Given the description of an element on the screen output the (x, y) to click on. 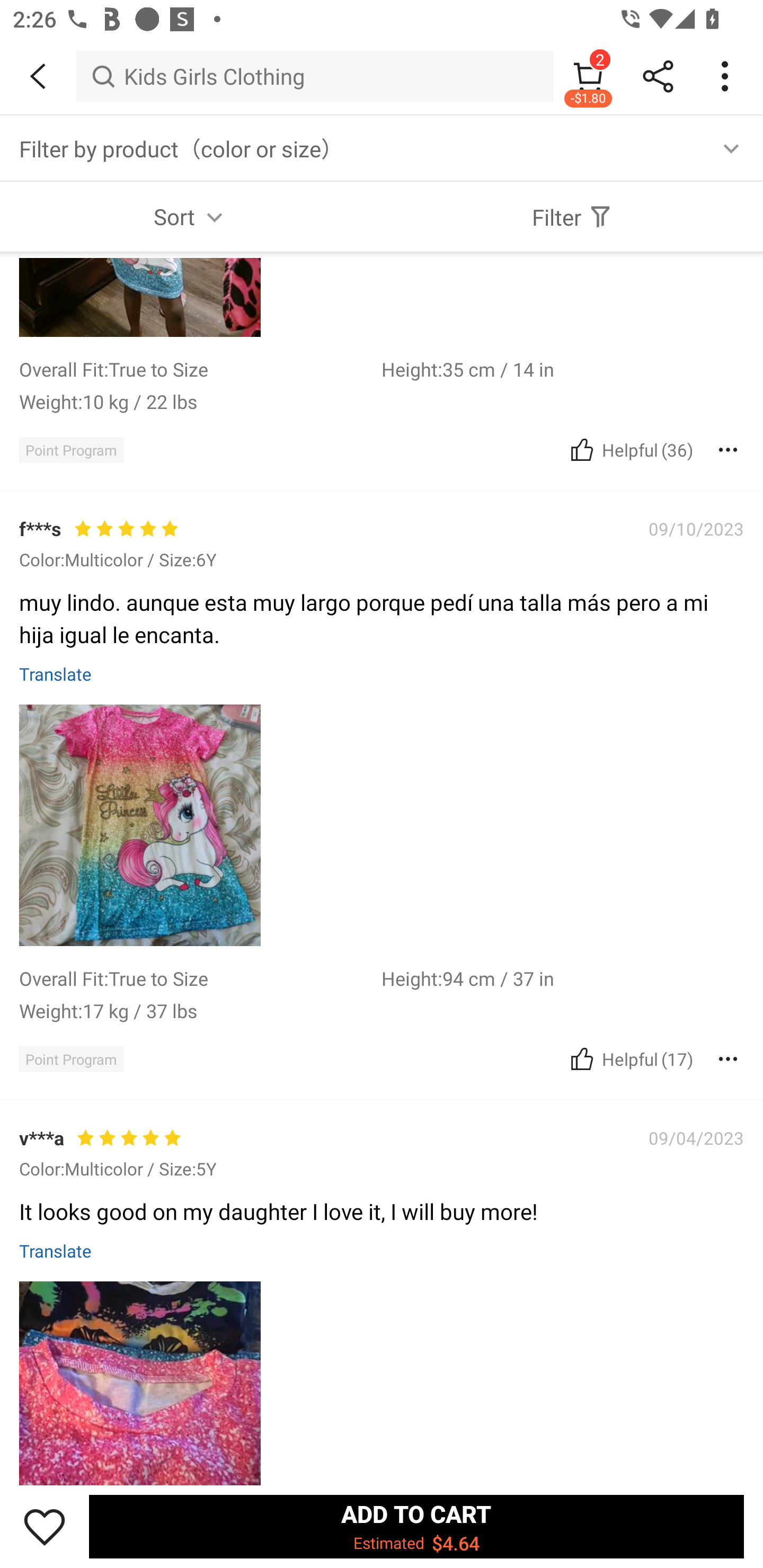
BACK (38, 75)
2 -$1.80 (588, 75)
Size Size Guide (381, 148)
Size Guide (682, 147)
Sort (190, 215)
Filter (572, 215)
Overall Fit:True to Size (200, 368)
Height:35 cm / 14 in (562, 368)
Weight:10 kg / 22 lbs (200, 400)
Cancel Helpful Was this article helpful? (36) (629, 449)
Point Program (71, 449)
Translate (55, 673)
Overall Fit:True to Size (200, 977)
Height:94 cm / 37 in (562, 977)
Weight:17 kg / 37 lbs (200, 1010)
Cancel Helpful Was this article helpful? (17) (629, 1058)
Point Program (71, 1058)
Translate (55, 1250)
ADD TO CART Estimated   $4.64 (416, 1526)
Save (44, 1526)
